Given the description of an element on the screen output the (x, y) to click on. 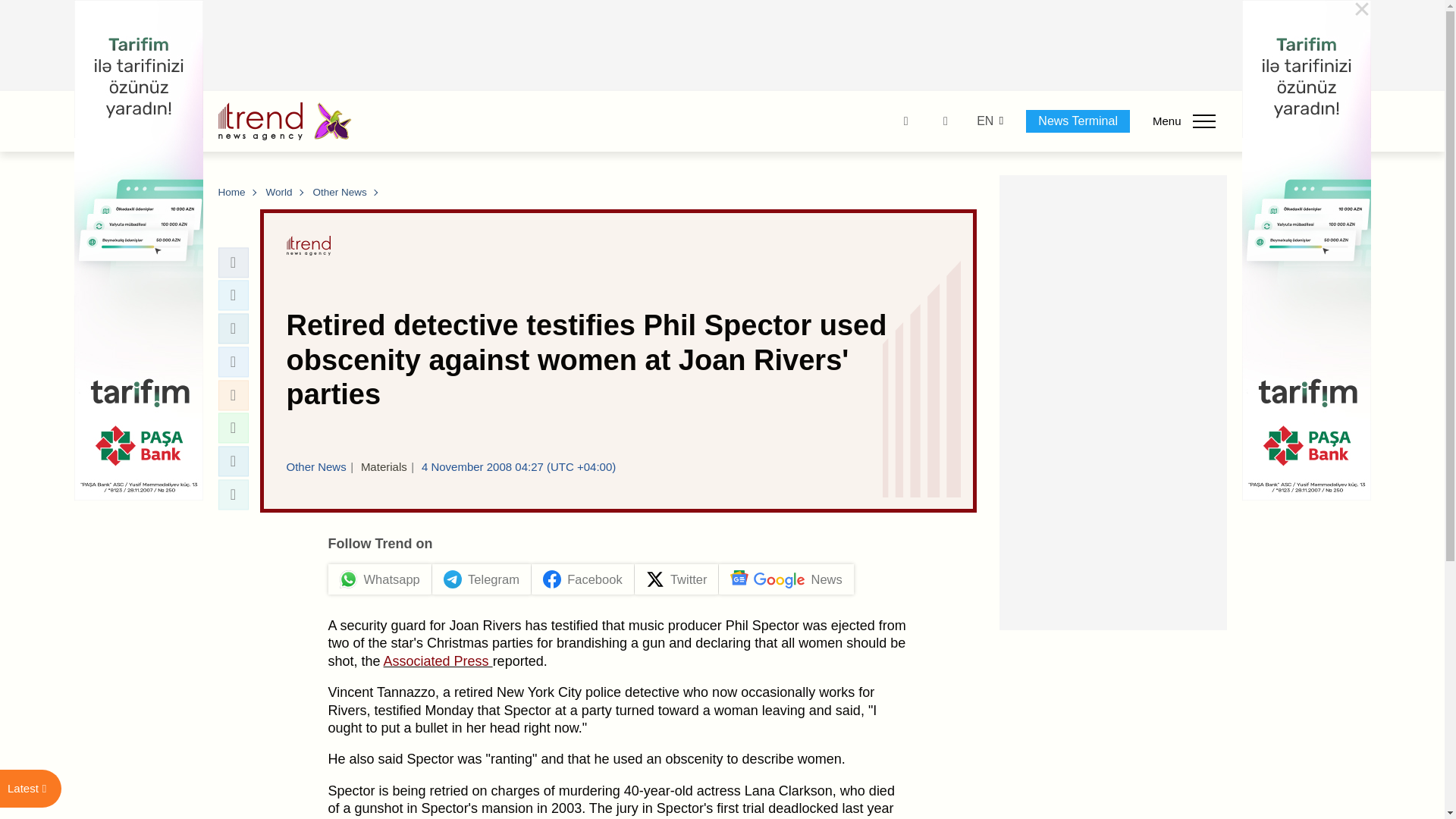
3rd party ad content (722, 45)
News Terminal (1077, 120)
EN (984, 121)
English (984, 121)
